Given the description of an element on the screen output the (x, y) to click on. 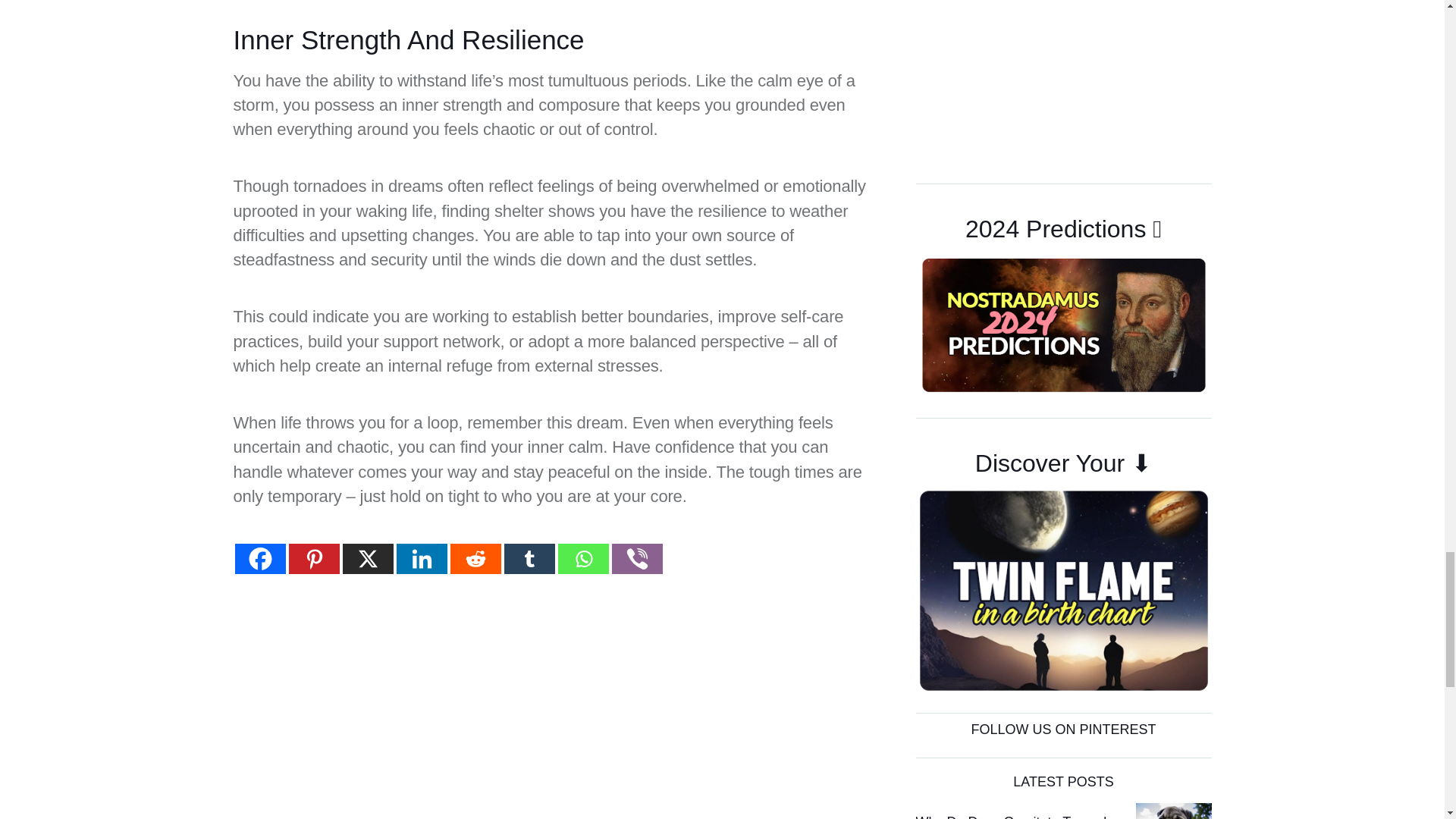
Facebook (259, 558)
Pinterest (313, 558)
Viber (636, 558)
Whatsapp (582, 558)
Reddit (474, 558)
Tumblr (528, 558)
Linkedin (421, 558)
X (367, 558)
